Given the description of an element on the screen output the (x, y) to click on. 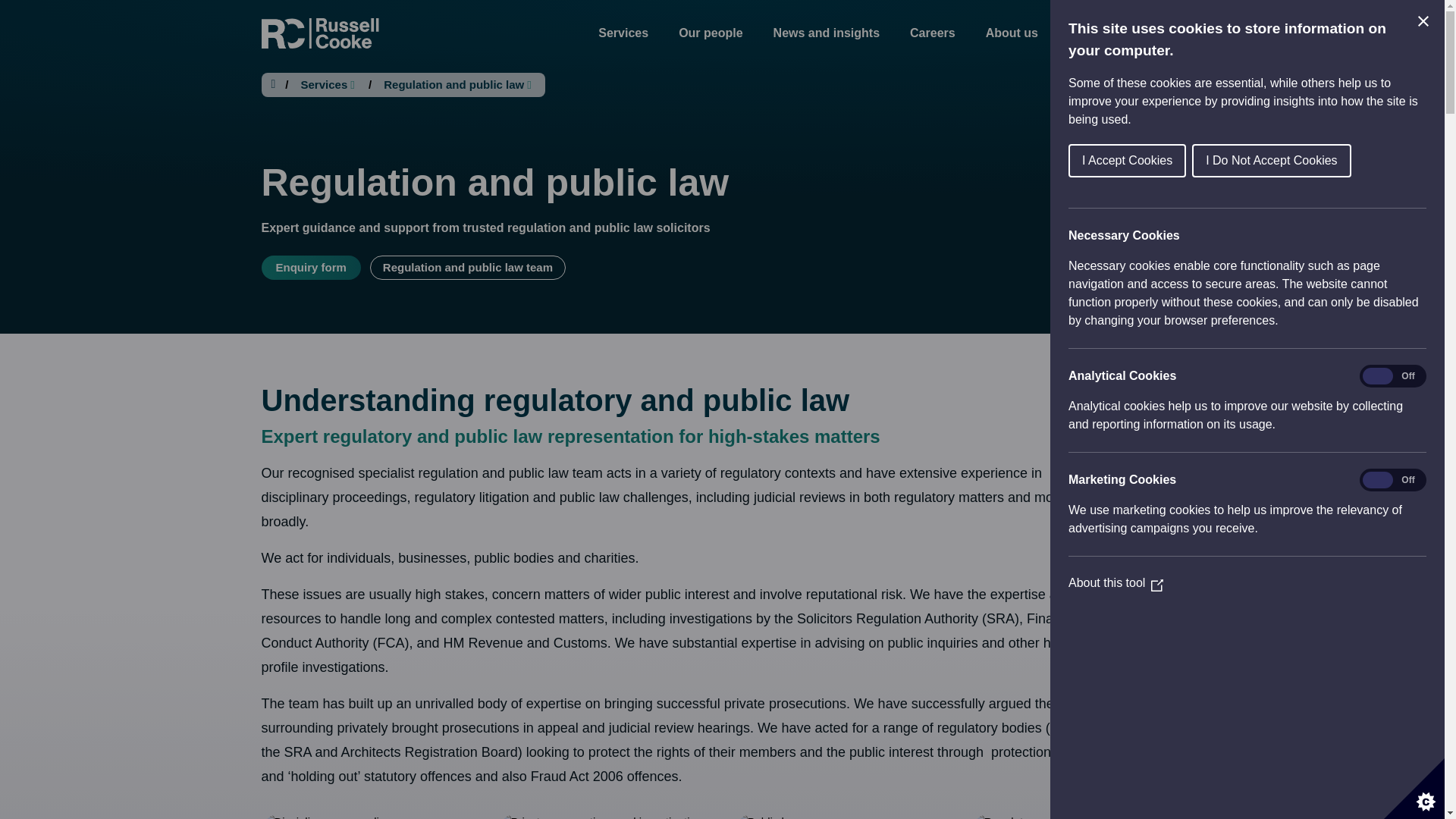
I Accept Cookies (1267, 160)
Services (622, 33)
I Do Not Accept Cookies (1366, 160)
